Given the description of an element on the screen output the (x, y) to click on. 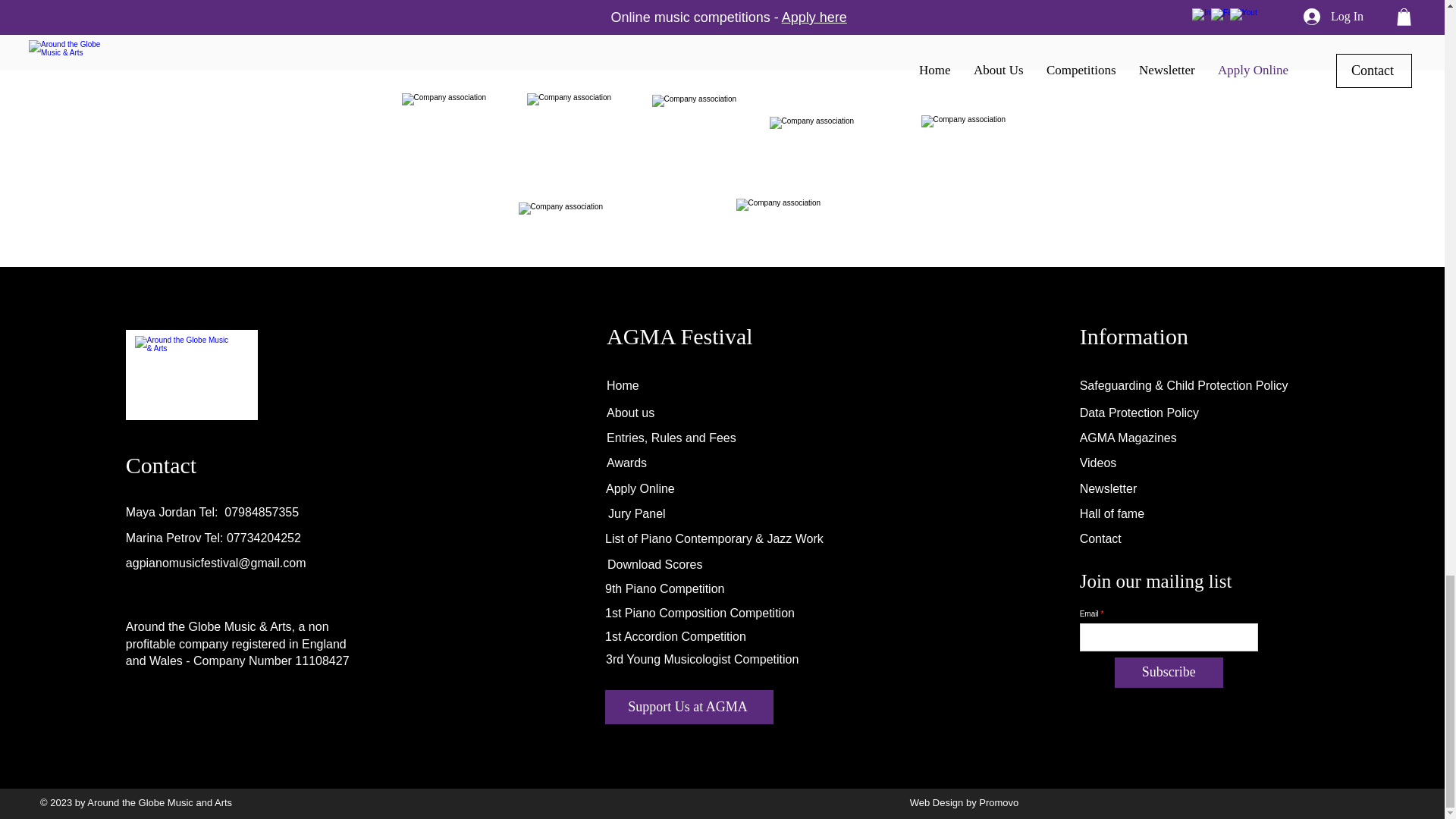
07984857355 (261, 512)
Home (623, 385)
07734204252 (264, 537)
